Given the description of an element on the screen output the (x, y) to click on. 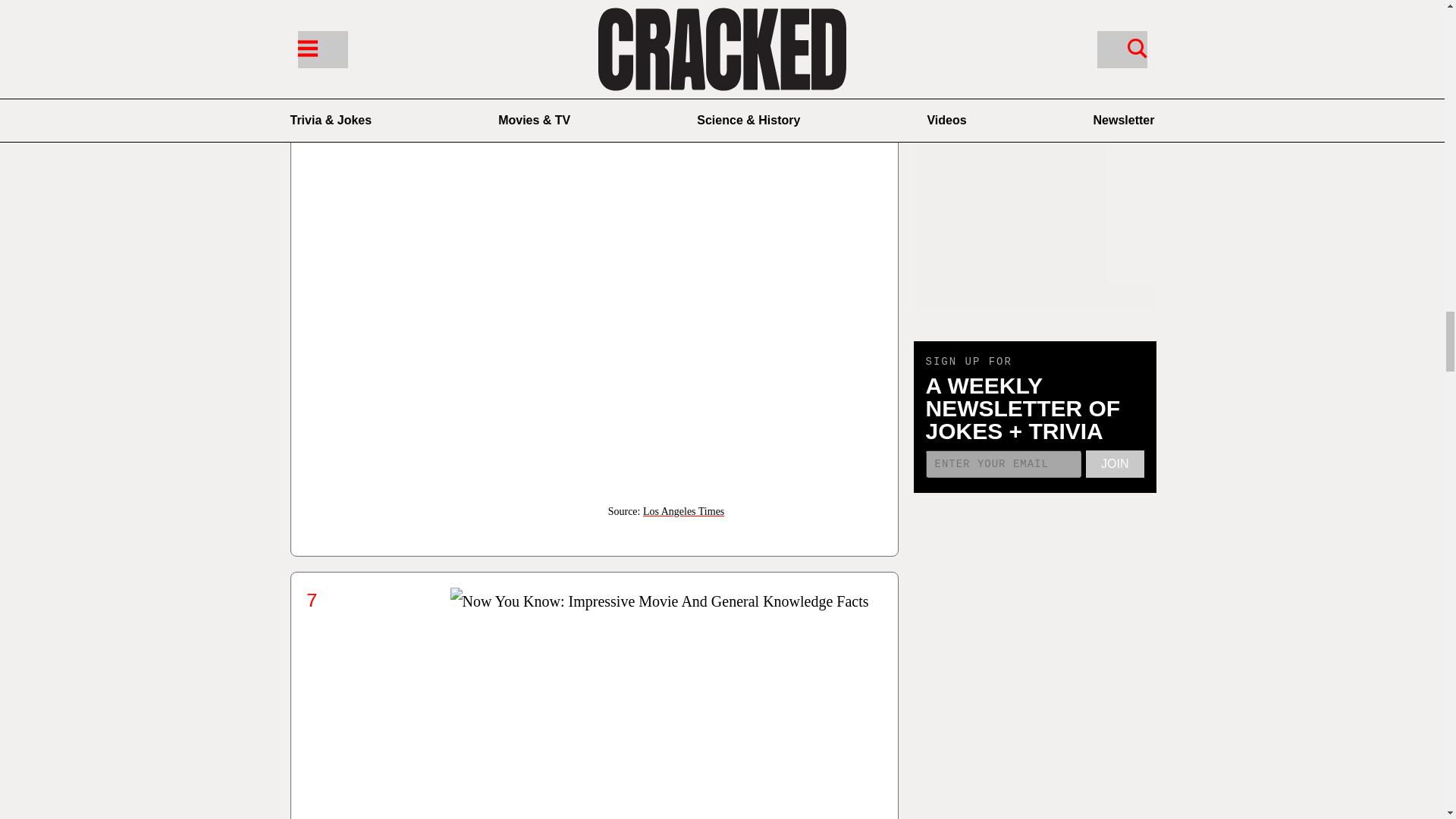
Los Angeles Times (683, 511)
